Given the description of an element on the screen output the (x, y) to click on. 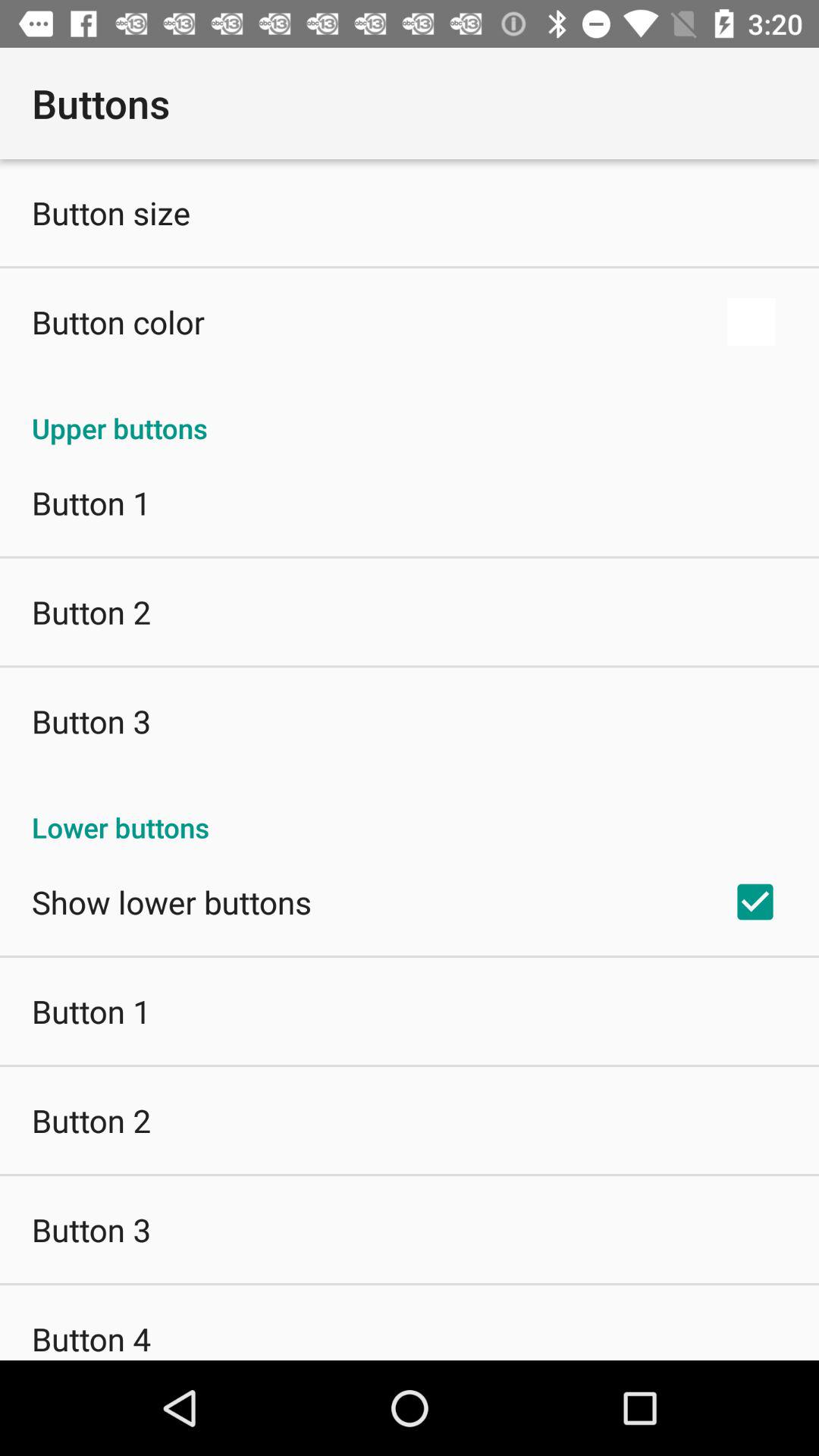
open the item below buttons (110, 212)
